Given the description of an element on the screen output the (x, y) to click on. 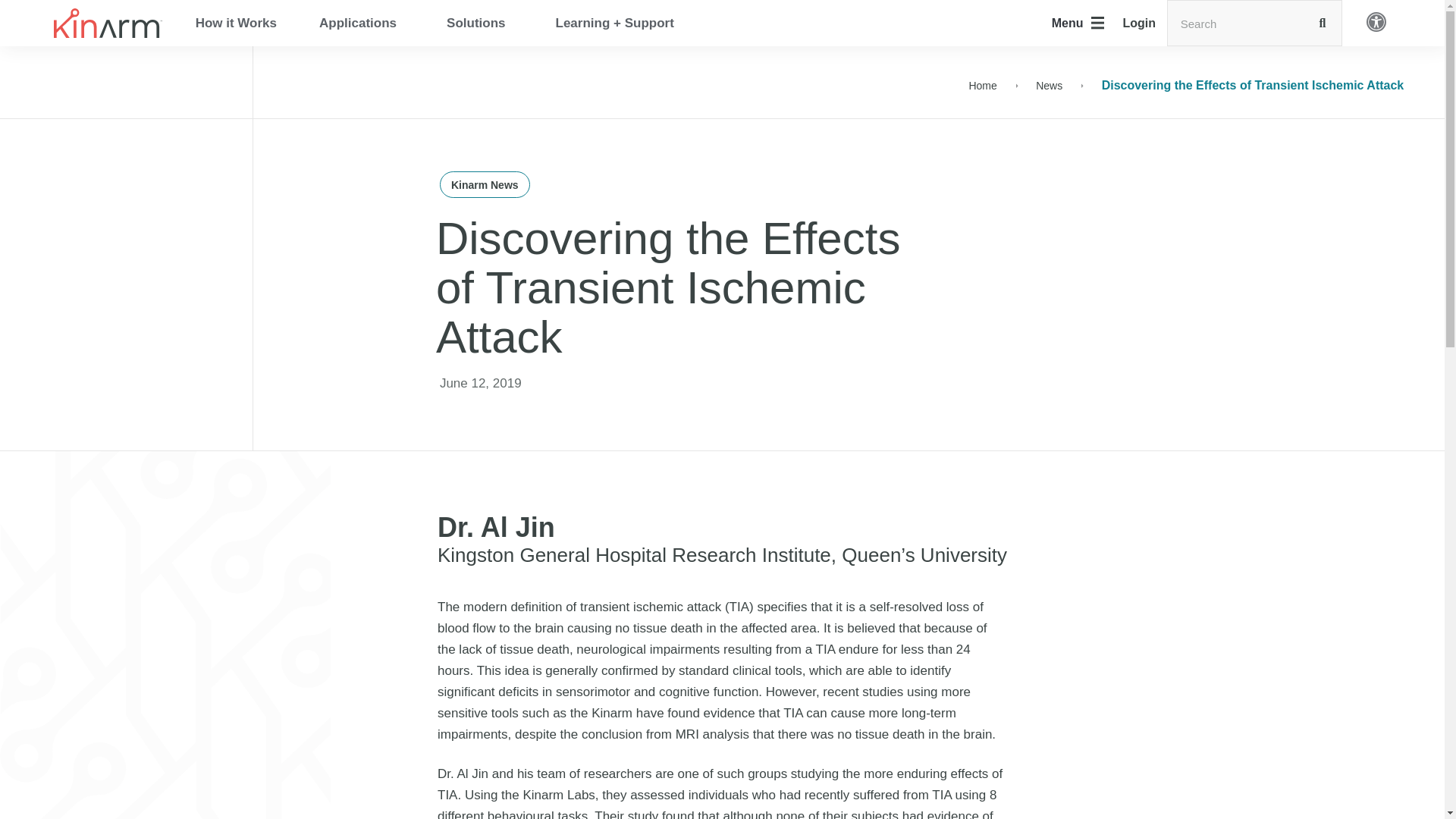
Solutions (479, 22)
Applications (361, 22)
How it Works (236, 22)
